Given the description of an element on the screen output the (x, y) to click on. 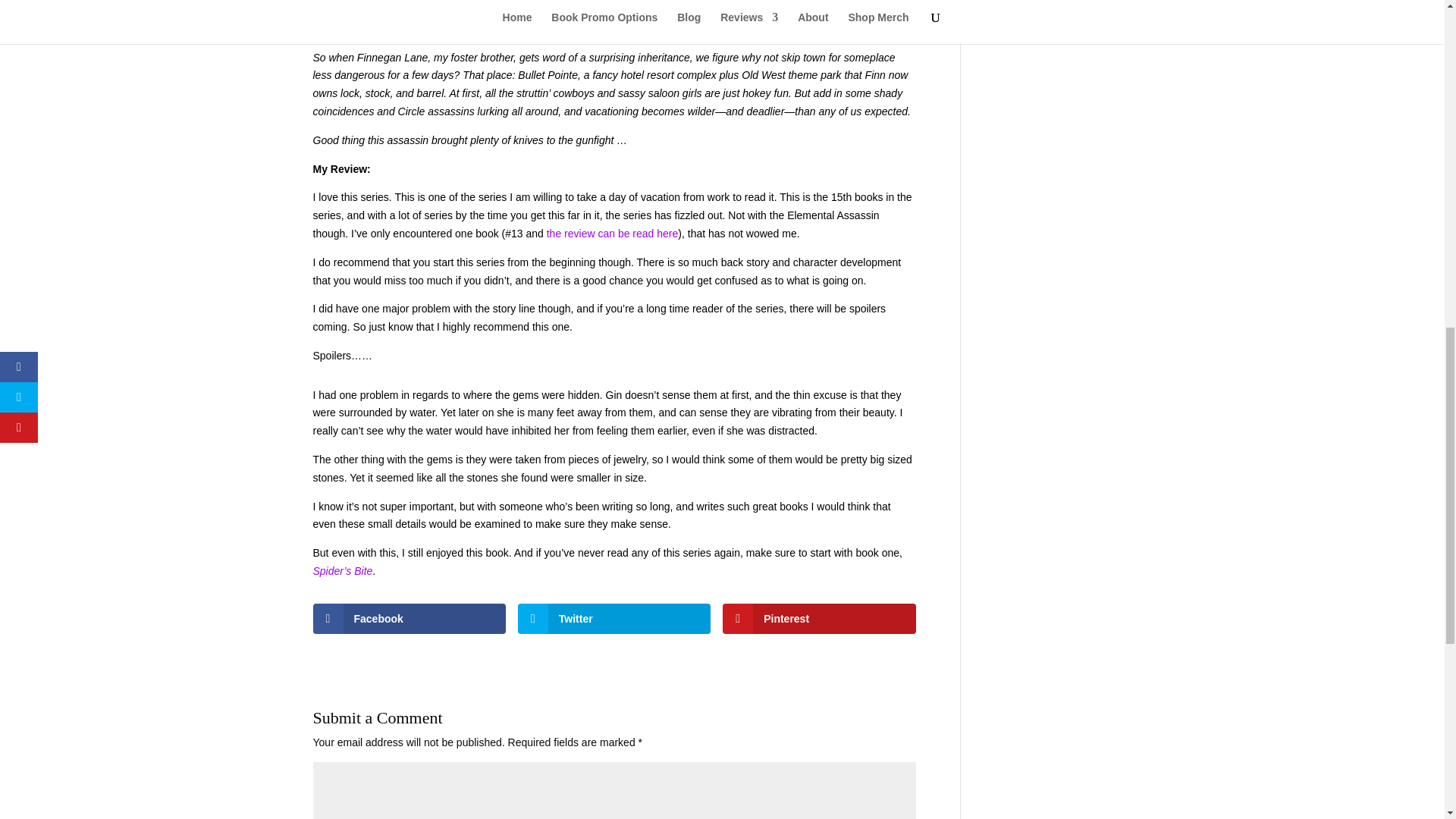
Facebook (409, 618)
Pinterest (818, 618)
the review can be read here (612, 233)
Twitter (614, 618)
